Given the description of an element on the screen output the (x, y) to click on. 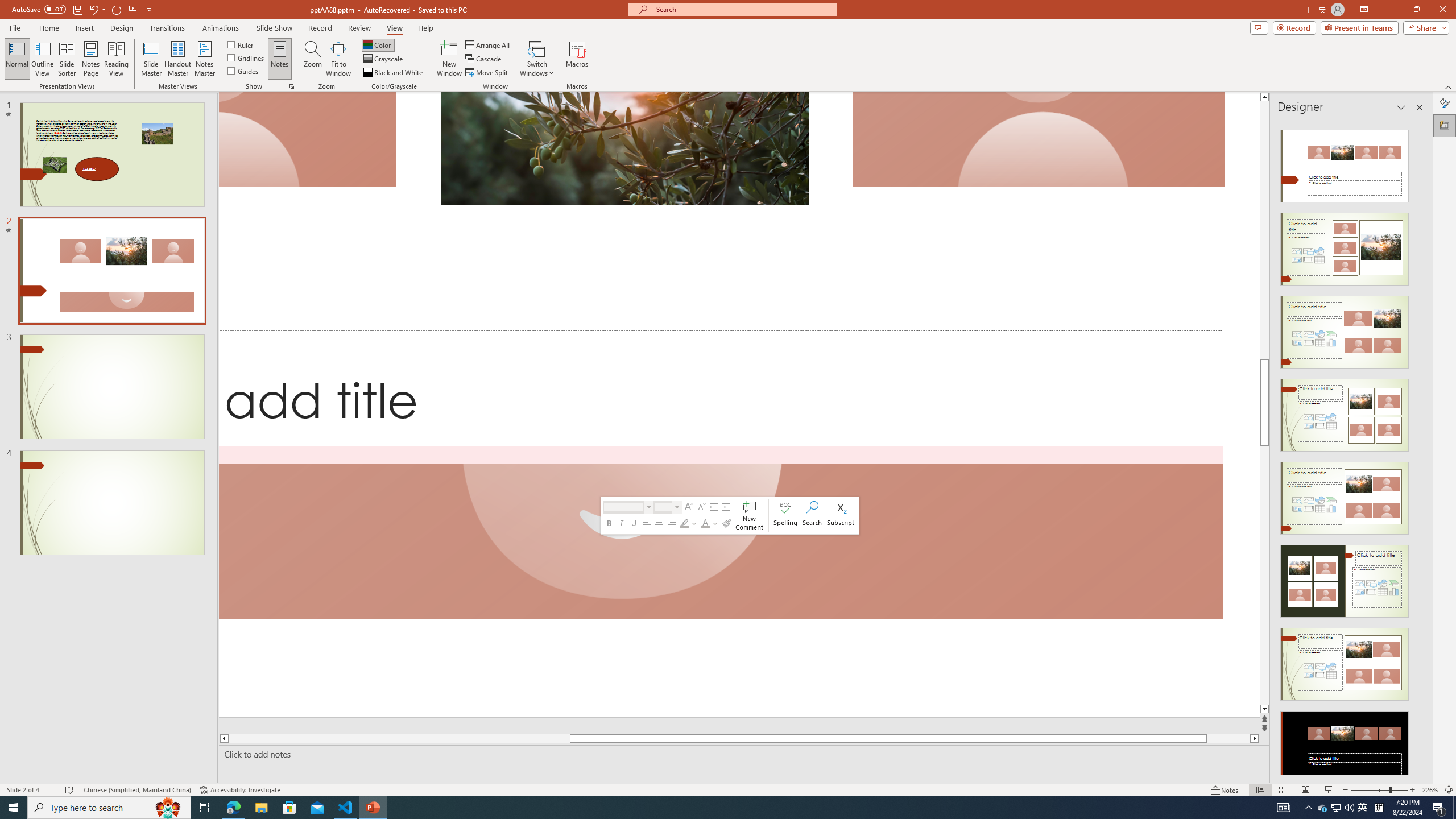
Notes Page (90, 58)
Black and White (393, 72)
